Given the description of an element on the screen output the (x, y) to click on. 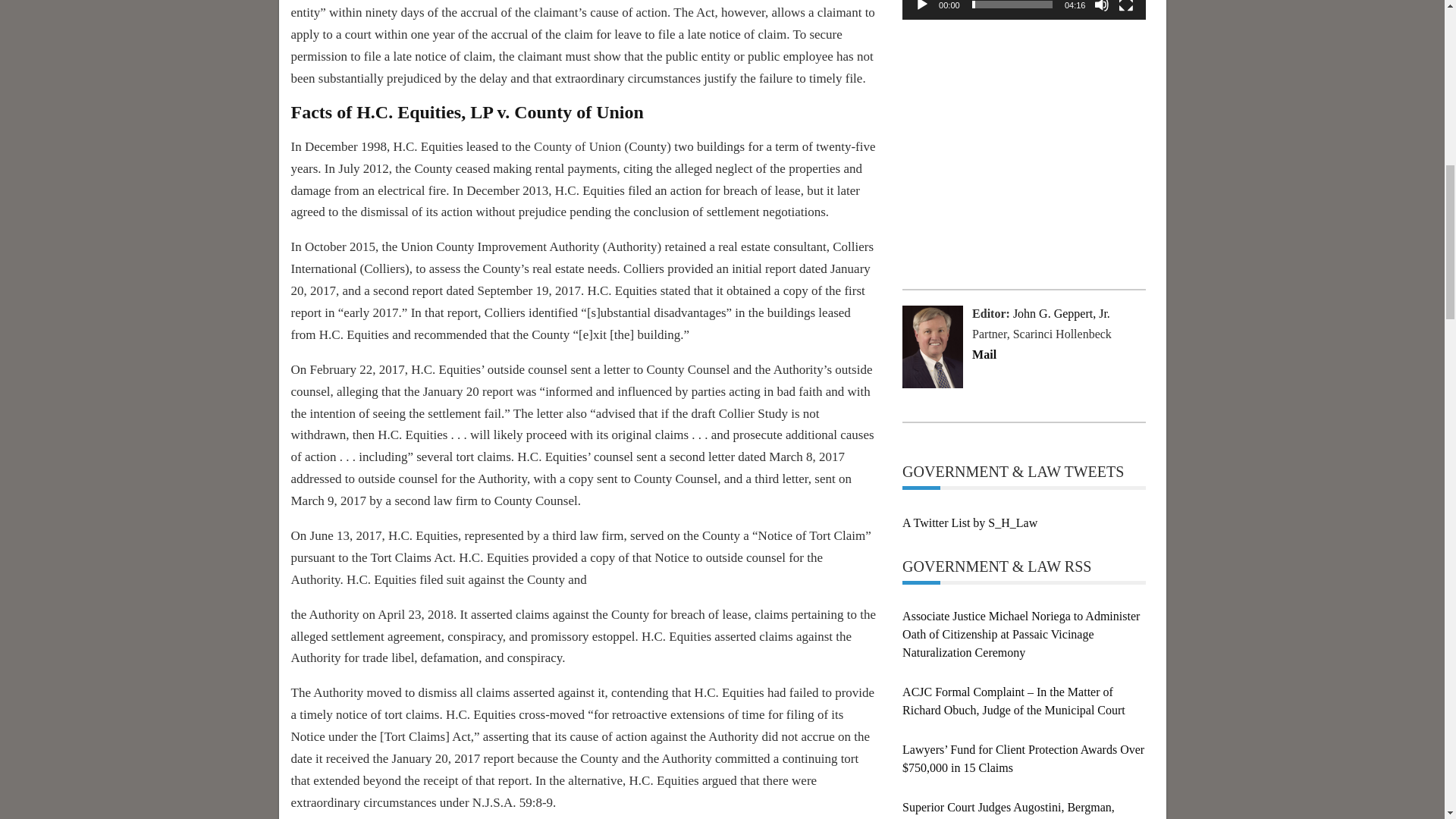
Mute (1101, 6)
Play (922, 6)
Executive Order 142and Graduation Concerns? (1015, 89)
Fullscreen (1126, 6)
County of Union (577, 146)
